Given the description of an element on the screen output the (x, y) to click on. 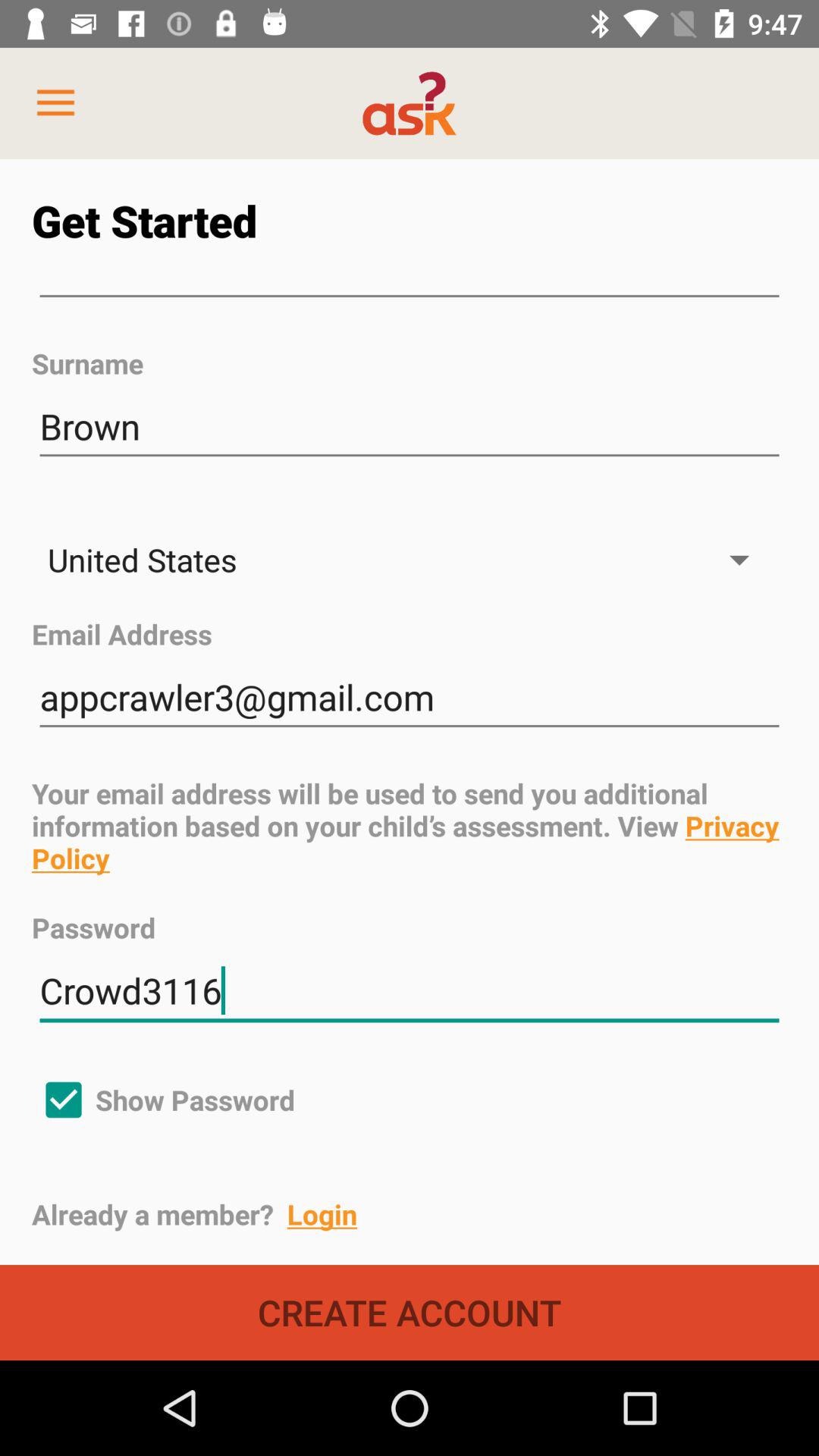
swipe to the brown icon (409, 427)
